Given the description of an element on the screen output the (x, y) to click on. 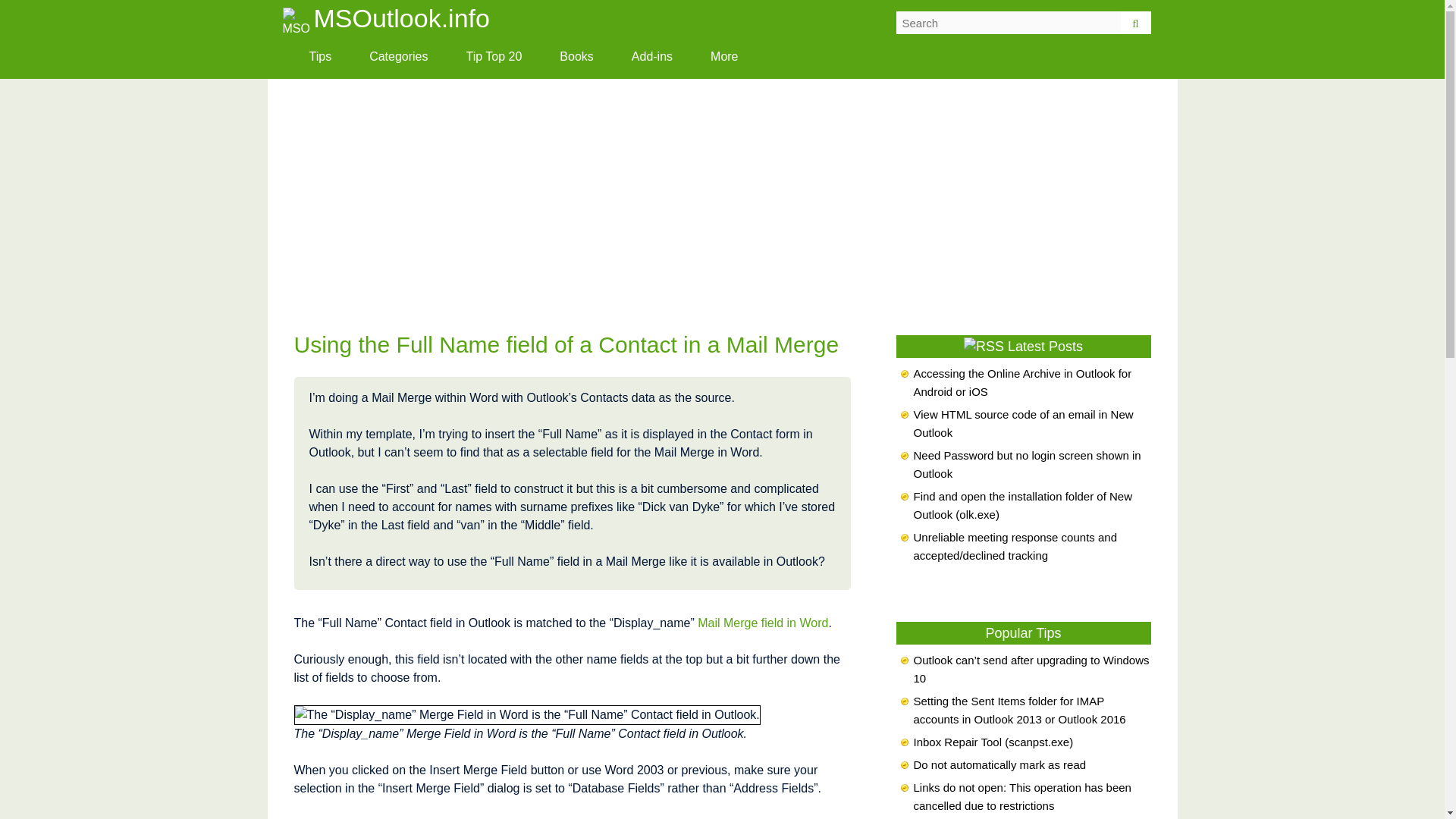
Add-ins (651, 56)
Mail Merge (762, 622)
Books (575, 56)
Using the Full Name field of a Contact in a Mail Merge (567, 344)
Mail Merge field in Word (762, 622)
Tips (319, 56)
More (724, 56)
Categories (398, 56)
Tip Top 20 (493, 56)
